Given the description of an element on the screen output the (x, y) to click on. 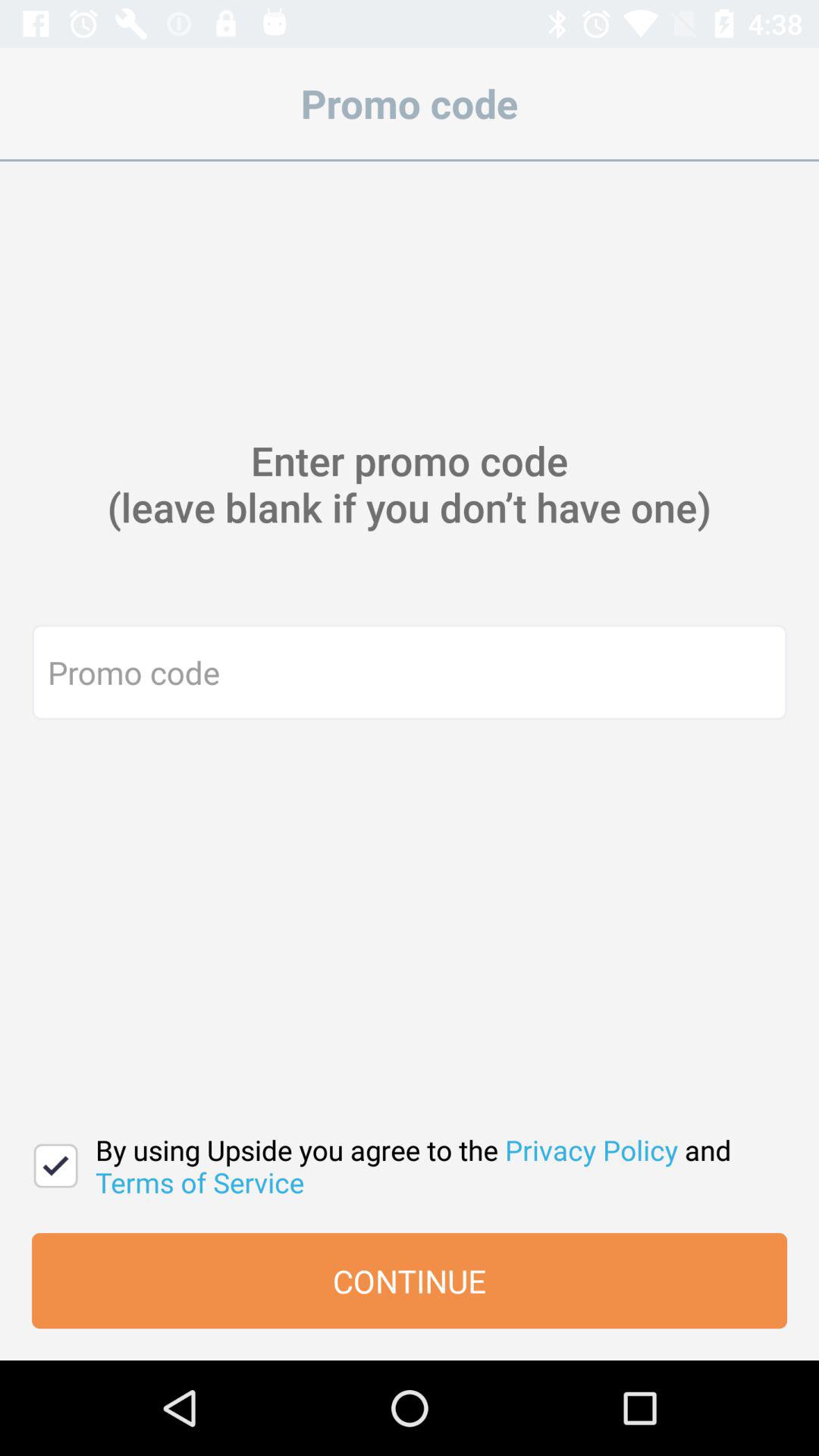
scroll until continue icon (409, 1280)
